Given the description of an element on the screen output the (x, y) to click on. 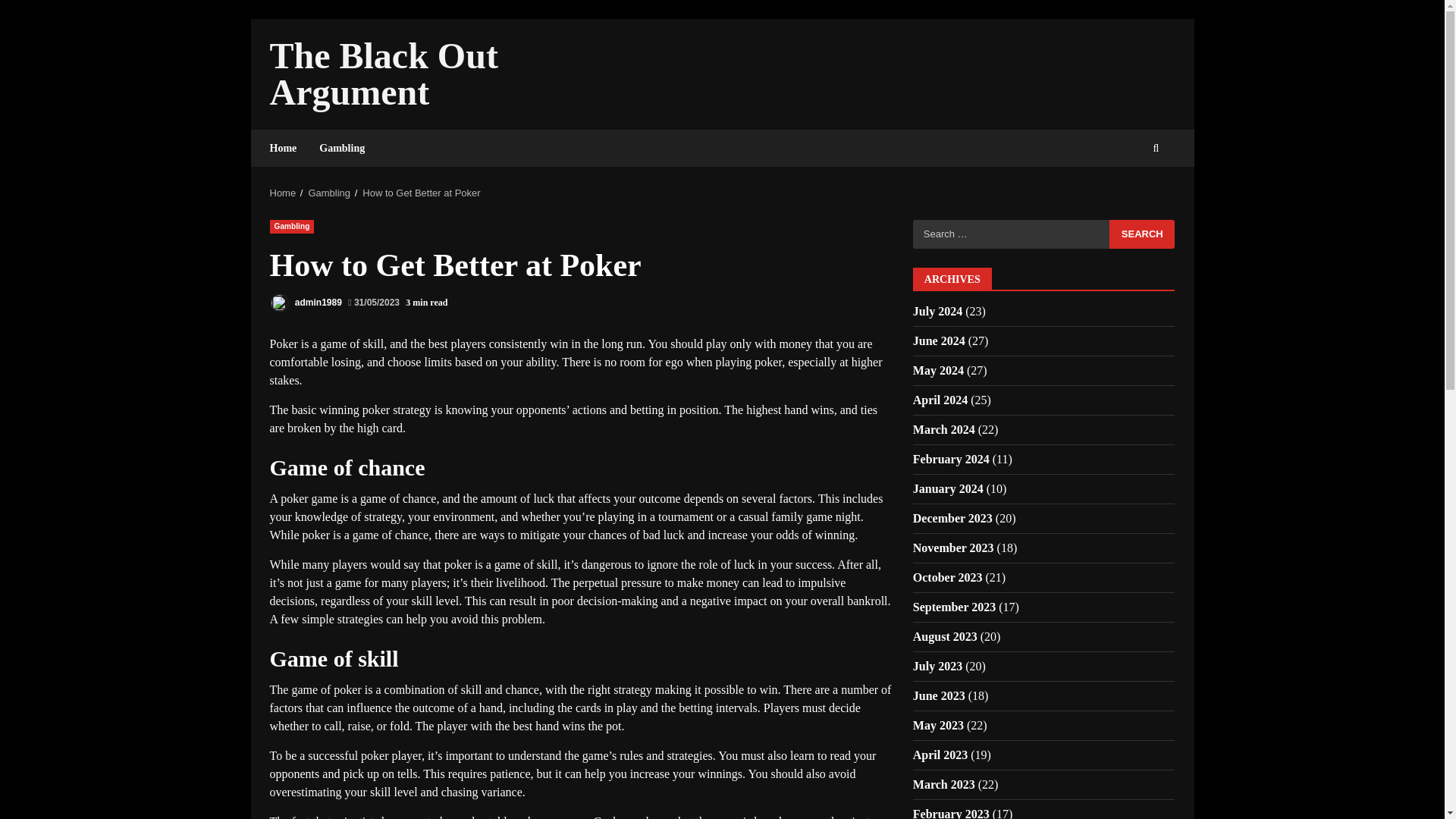
Search (1141, 234)
Search (1141, 234)
Home (288, 148)
May 2024 (937, 369)
June 2023 (938, 695)
admin1989 (305, 302)
January 2024 (948, 488)
May 2023 (937, 725)
Search (1141, 234)
April 2024 (940, 399)
Gambling (328, 193)
Gambling (291, 226)
The Black Out Argument (383, 74)
October 2023 (947, 576)
